Given the description of an element on the screen output the (x, y) to click on. 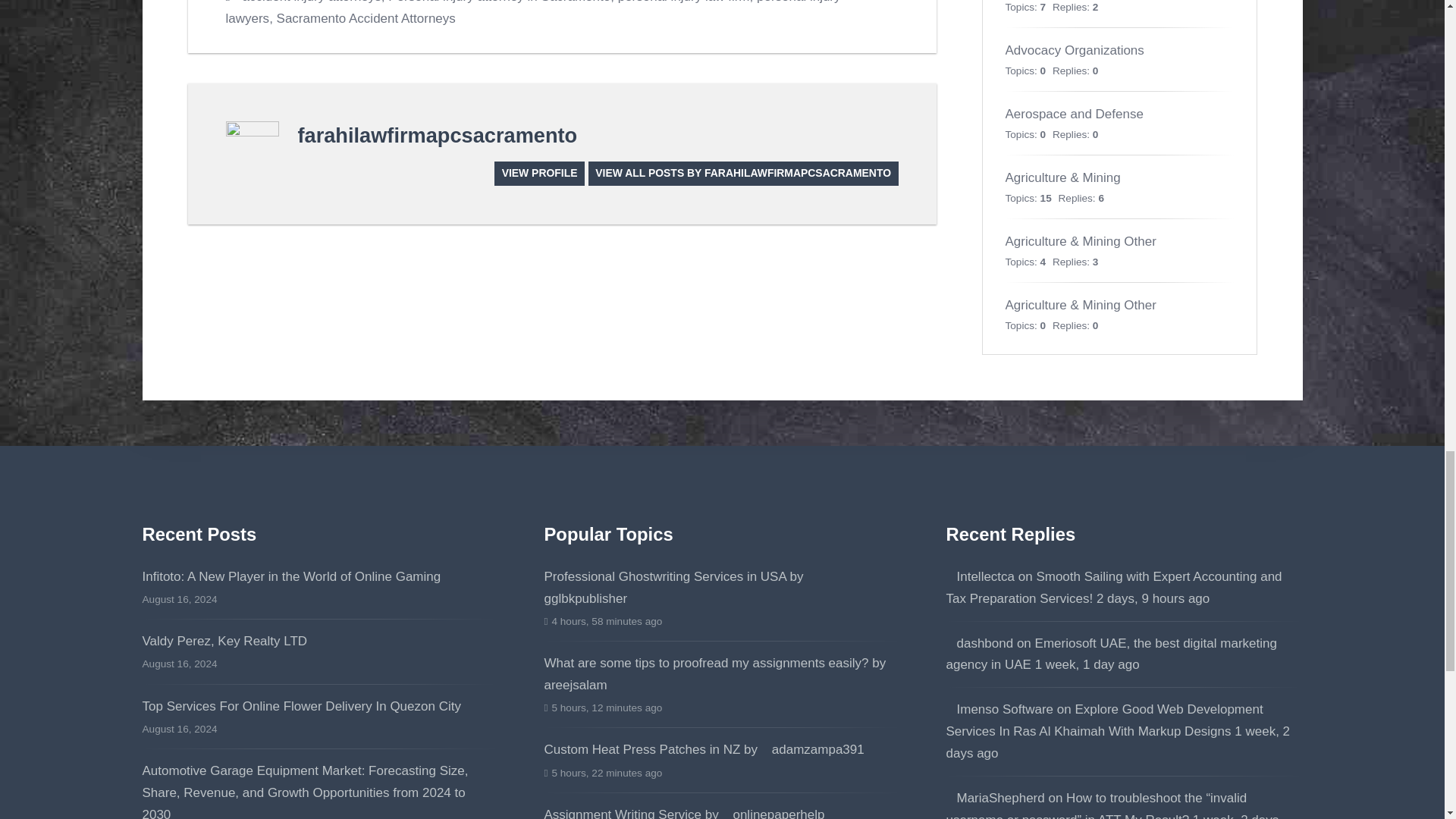
View onlinepaperhelp's profile (773, 813)
View gglbkpublisher's profile (681, 587)
VIEW PROFILE (540, 173)
personal injury law firm (683, 2)
farahilawfirmapcsacramento (436, 135)
View MariaShepherd's profile (995, 798)
personal injury lawyers (533, 12)
VIEW ALL POSTS BY FARAHILAWFIRMAPCSACRAMENTO (743, 173)
View areejsalam's profile (721, 674)
View Intellectca's profile (980, 576)
